Given the description of an element on the screen output the (x, y) to click on. 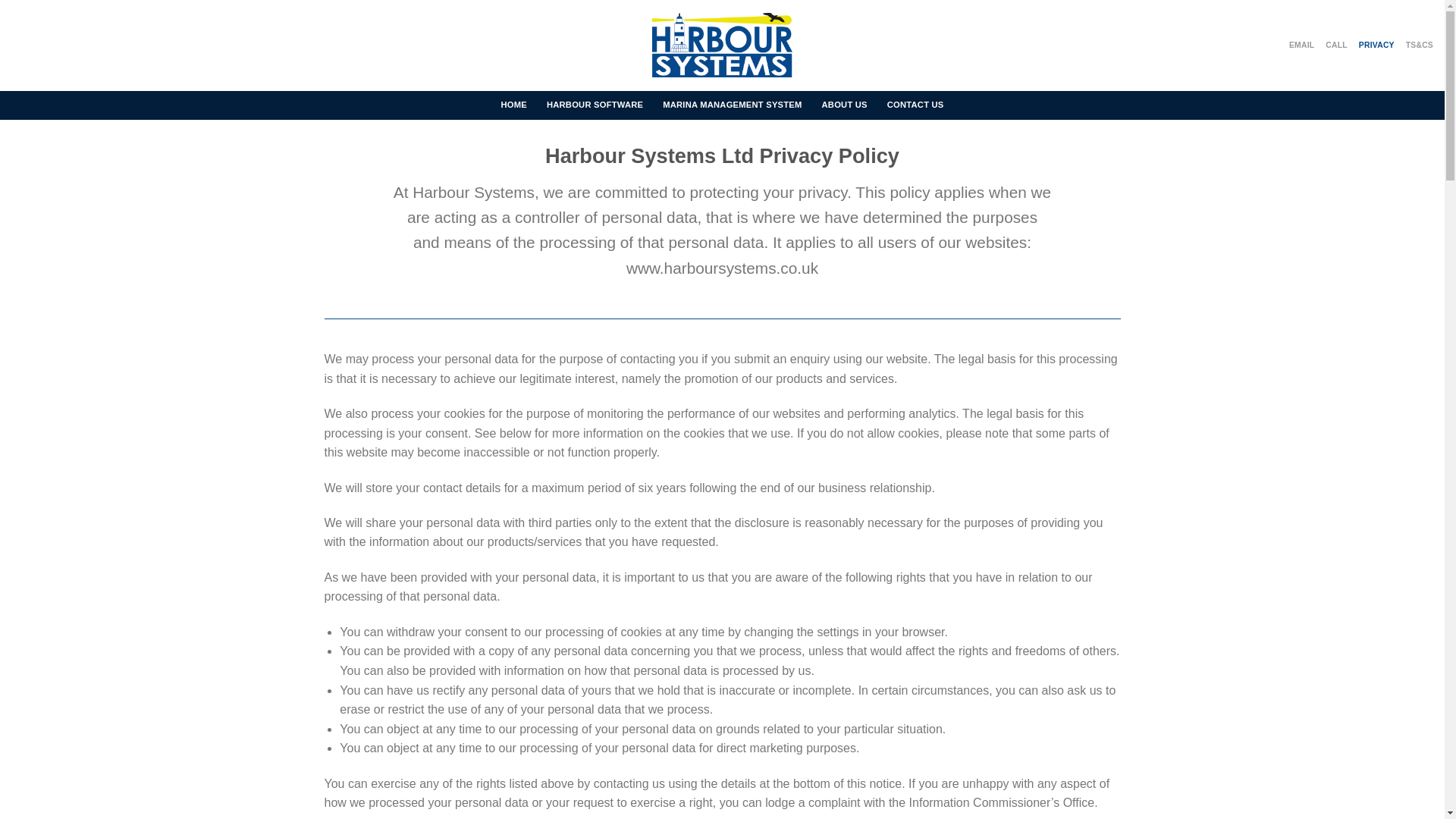
EMAIL (1299, 45)
PRIVACY (1374, 45)
CONTACT US (914, 104)
HARBOUR SOFTWARE (595, 104)
HOME (512, 104)
ABOUT US (844, 104)
MARINA MANAGEMENT SYSTEM (732, 104)
CALL (1335, 45)
